Given the description of an element on the screen output the (x, y) to click on. 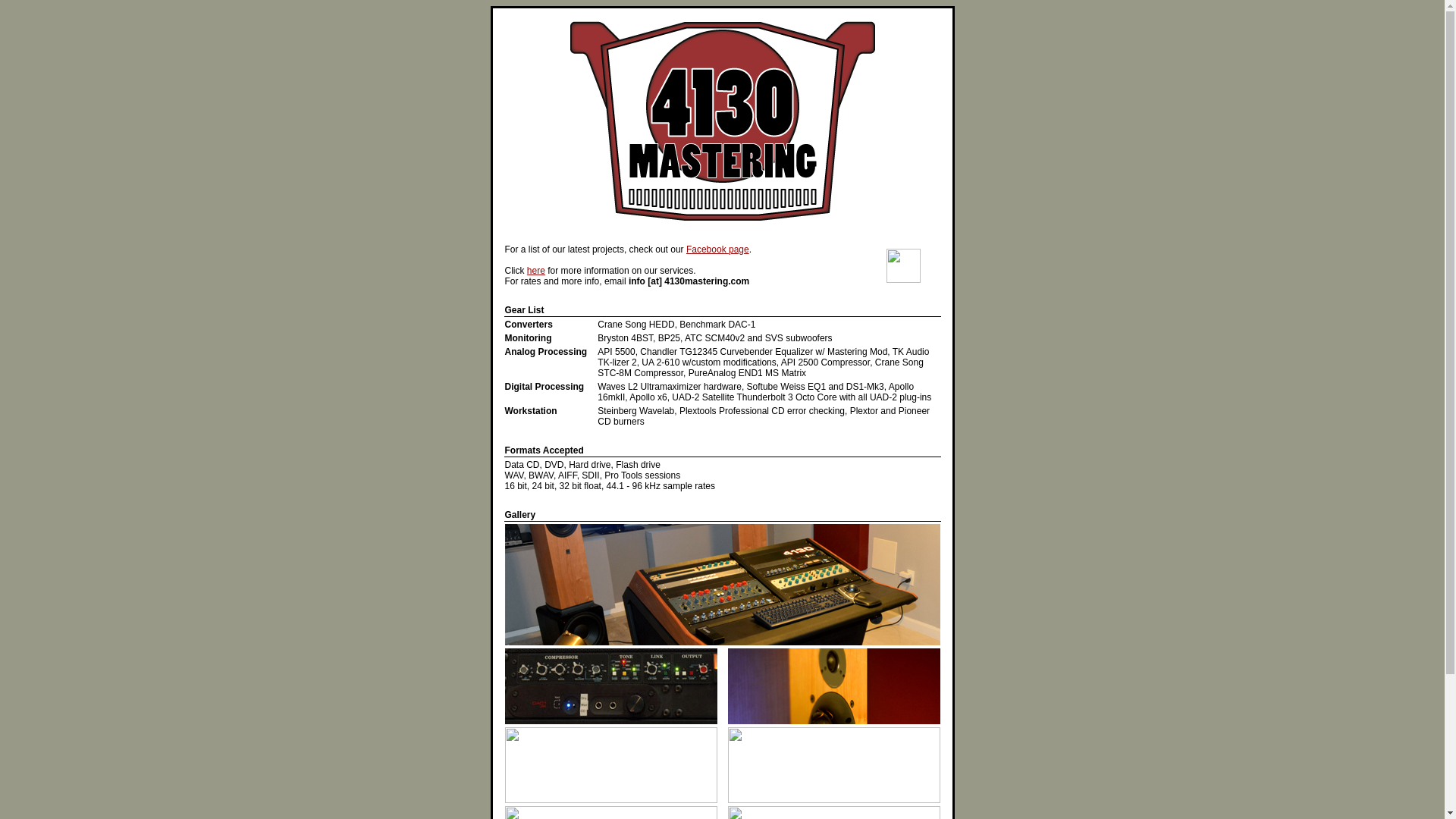
Facebook page Element type: text (717, 249)
here Element type: text (536, 270)
